Given the description of an element on the screen output the (x, y) to click on. 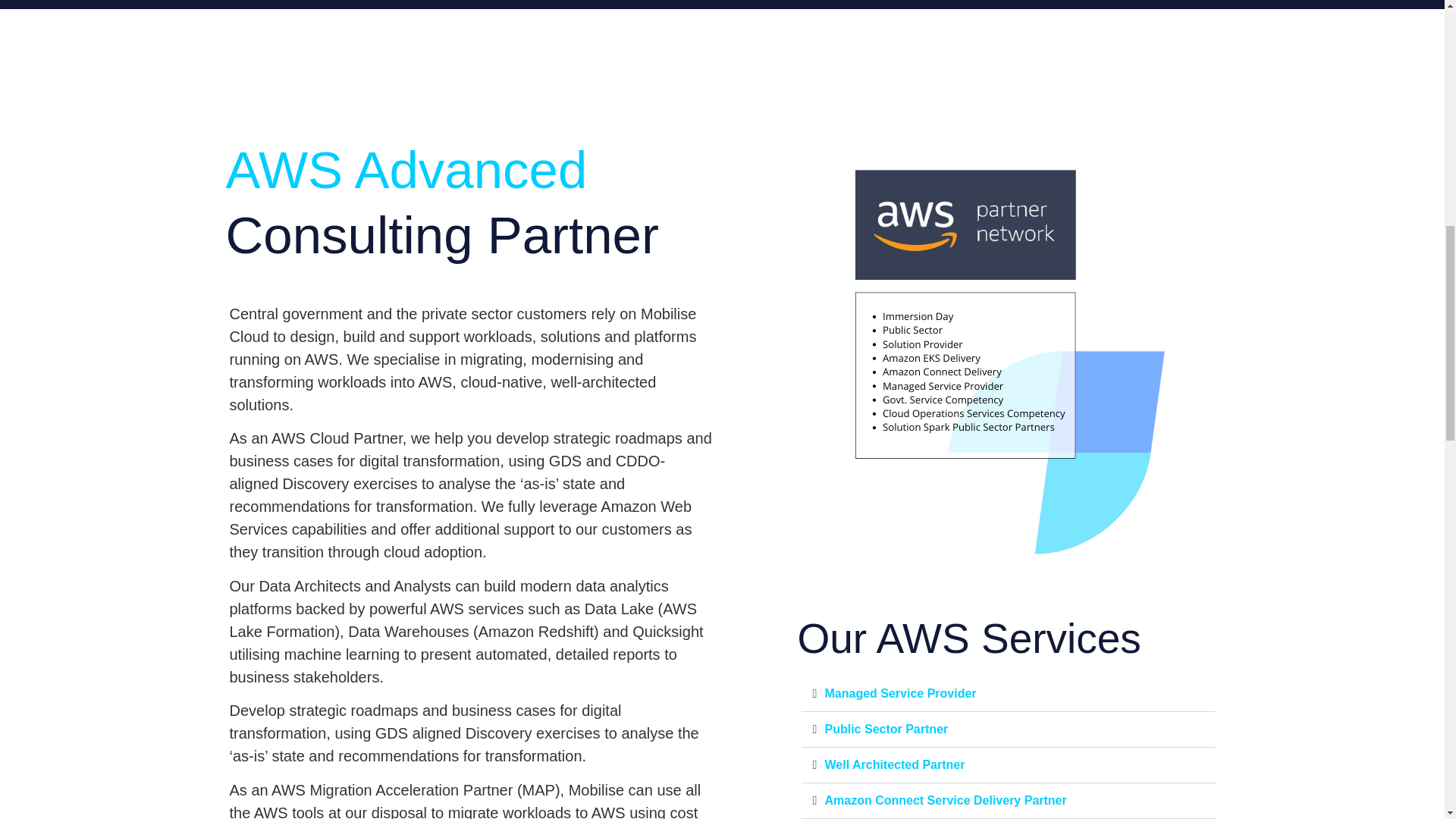
Public Sector Partner (887, 728)
Well Architected Partner (895, 764)
Managed Service Provider (900, 693)
Amazon Connect Service Delivery Partner (946, 799)
